Given the description of an element on the screen output the (x, y) to click on. 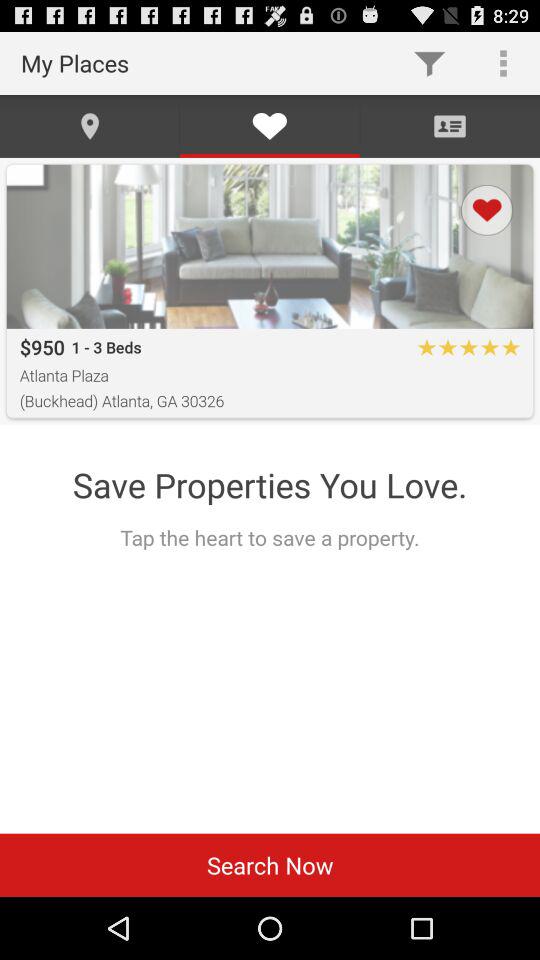
click search now at the bottom (270, 864)
